Given the description of an element on the screen output the (x, y) to click on. 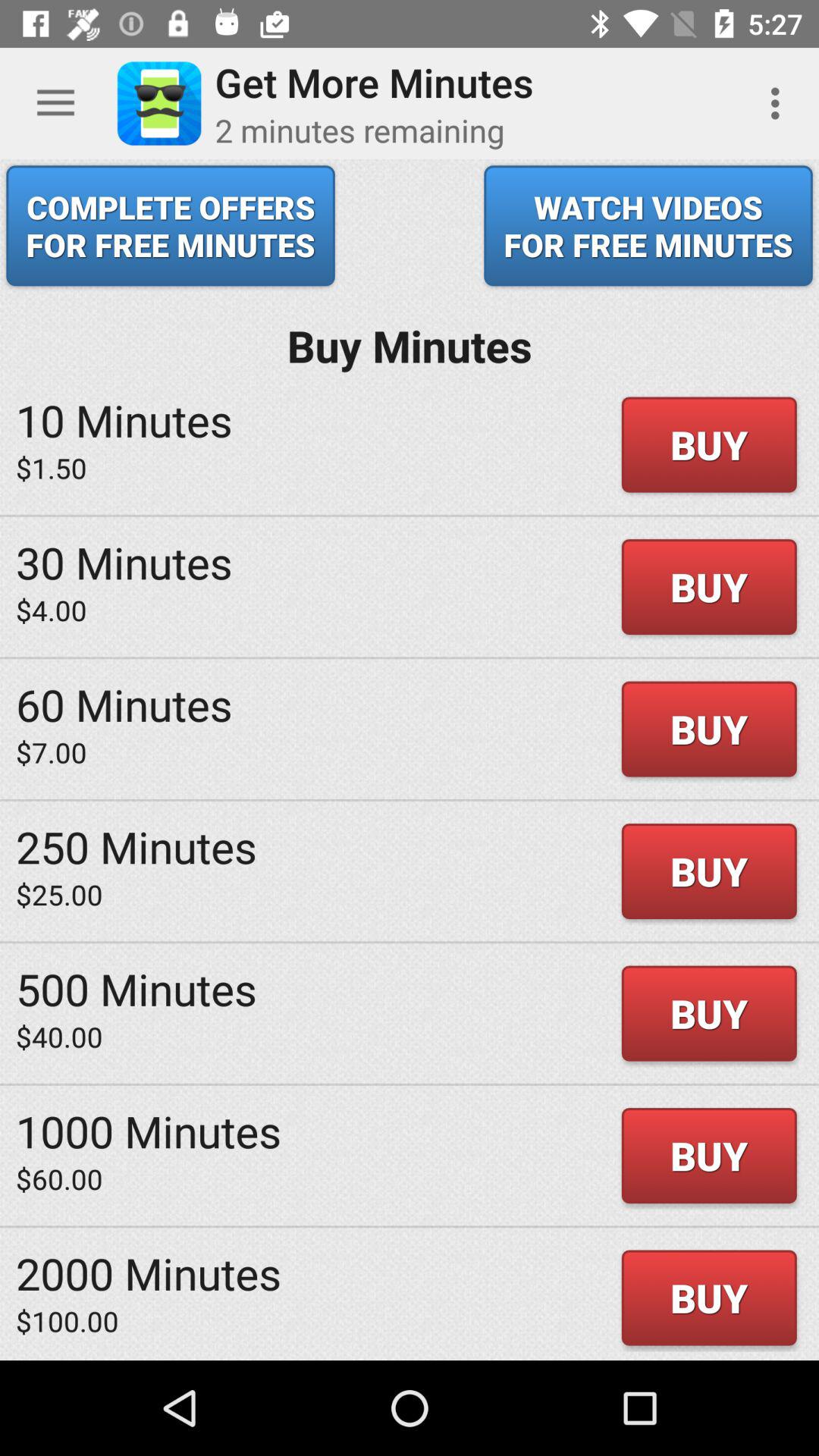
turn on 60 minutes icon (123, 704)
